Given the description of an element on the screen output the (x, y) to click on. 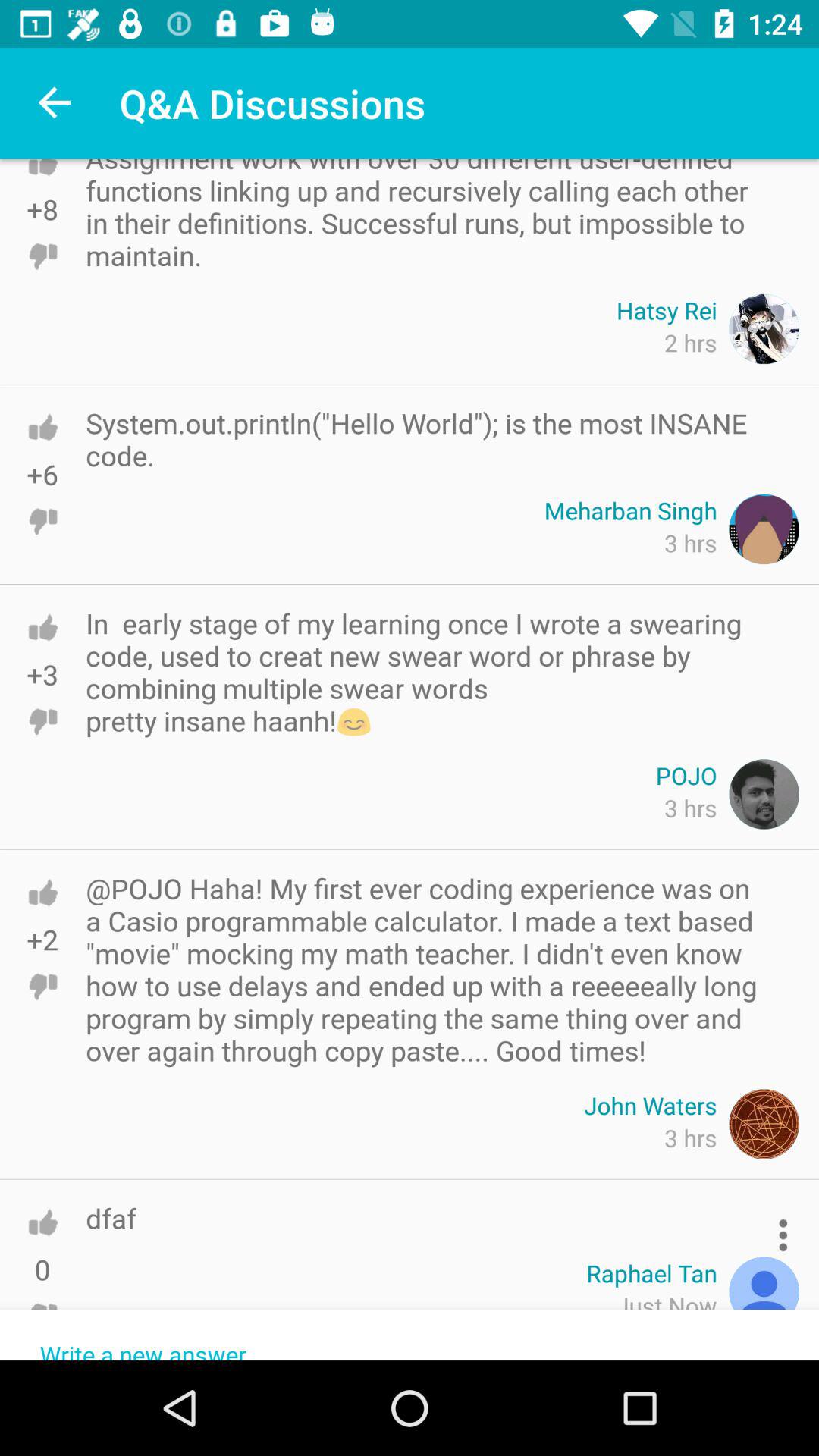
go to dislike option (42, 521)
